Given the description of an element on the screen output the (x, y) to click on. 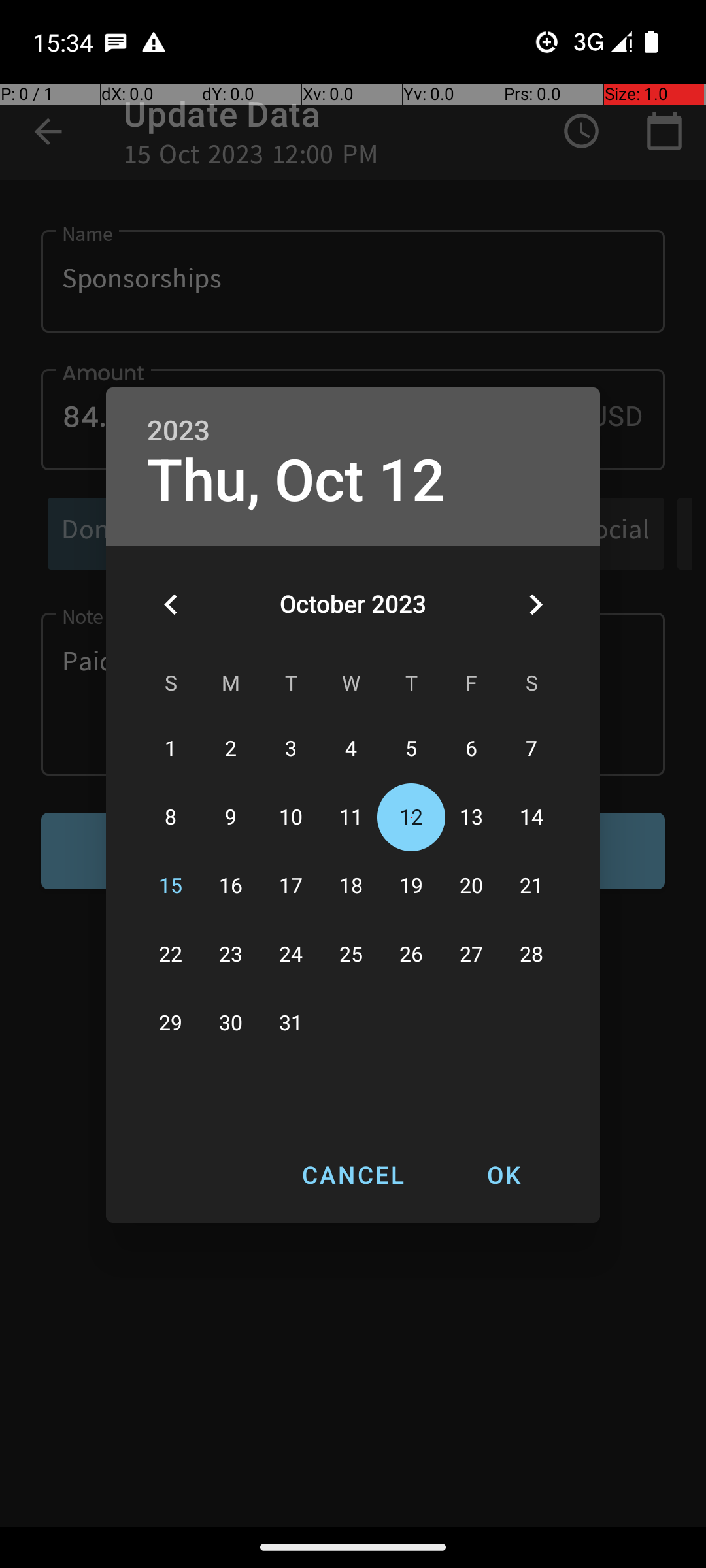
Thu, Oct 12 Element type: android.widget.TextView (296, 480)
